Given the description of an element on the screen output the (x, y) to click on. 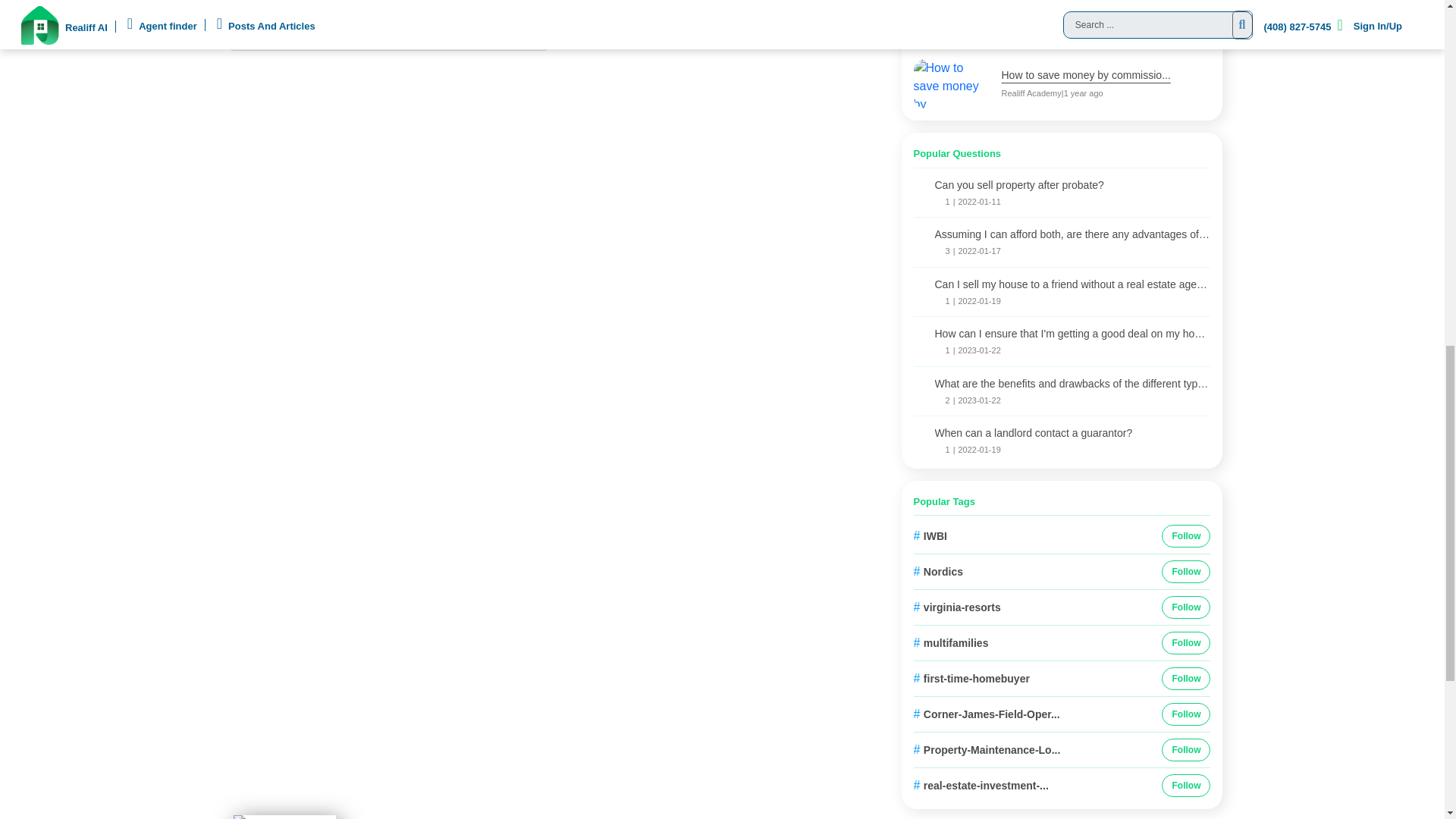
Connecting real estate profess... (355, 29)
